Given the description of an element on the screen output the (x, y) to click on. 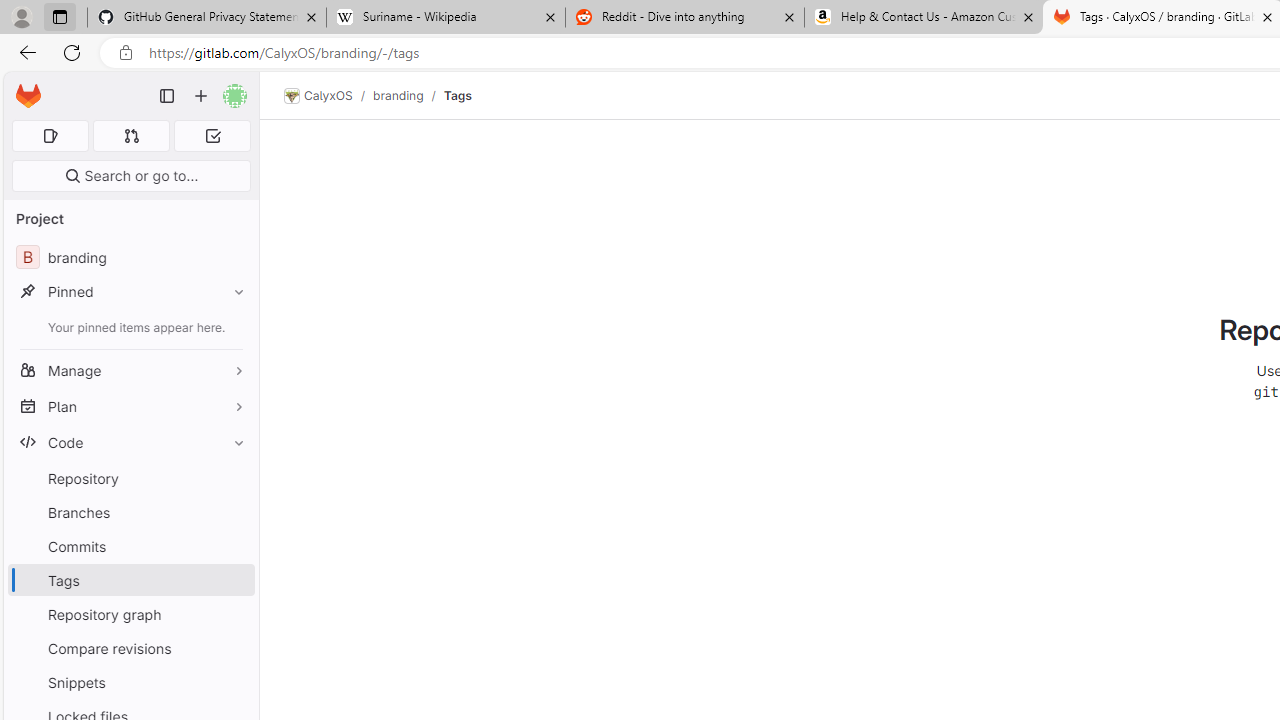
Merge requests 0 (131, 136)
Bbranding (130, 257)
Compare revisions (130, 648)
Primary navigation sidebar (167, 96)
Create new... (201, 96)
Repository (130, 478)
Tags (457, 95)
Pin Repository (234, 478)
Plan (130, 406)
Pin Branches (234, 511)
Manage (130, 370)
Code (130, 442)
To-Do list 0 (212, 136)
